Given the description of an element on the screen output the (x, y) to click on. 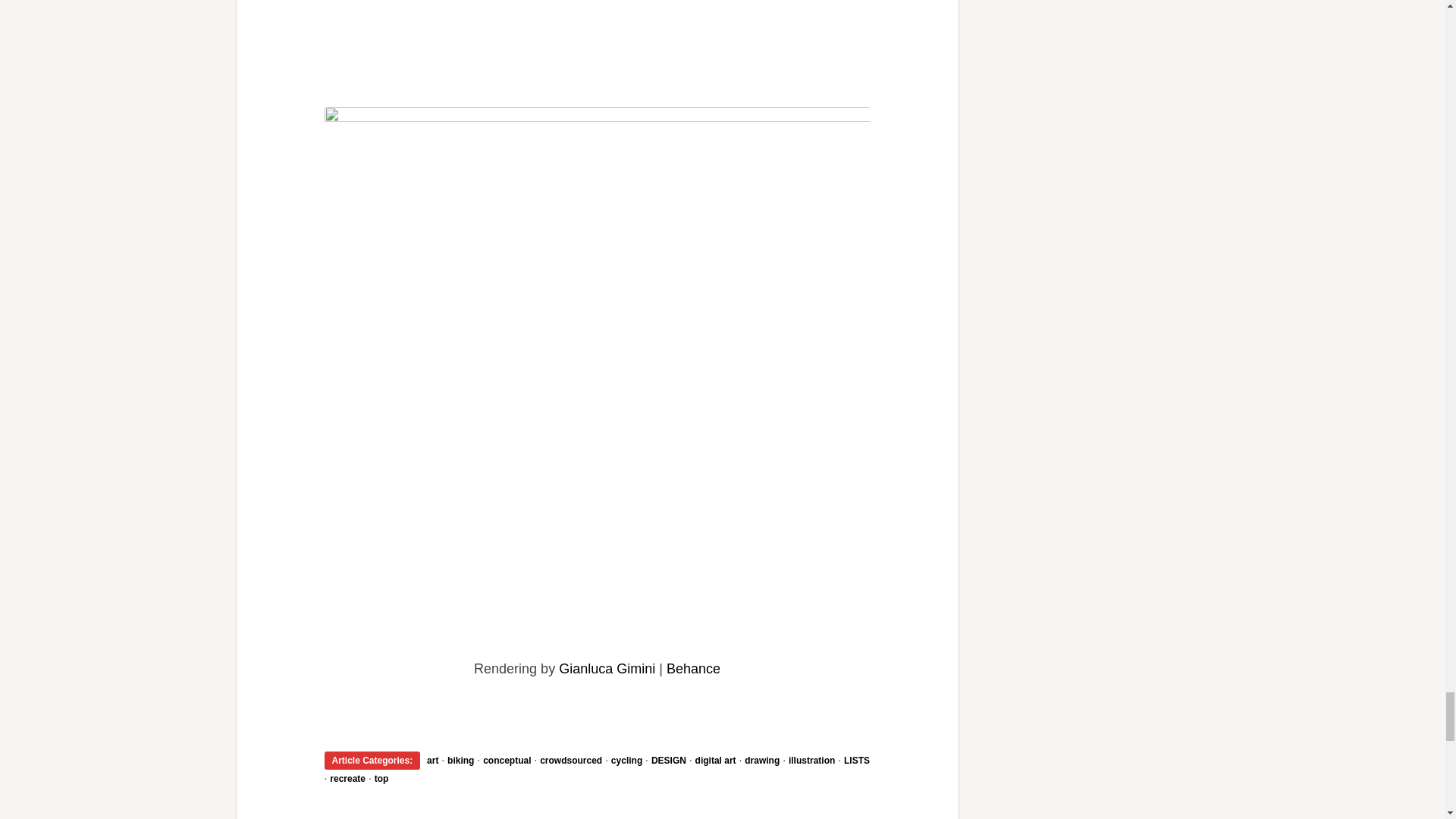
Behance (693, 668)
art (432, 760)
Gianluca Gimini (607, 668)
